Given the description of an element on the screen output the (x, y) to click on. 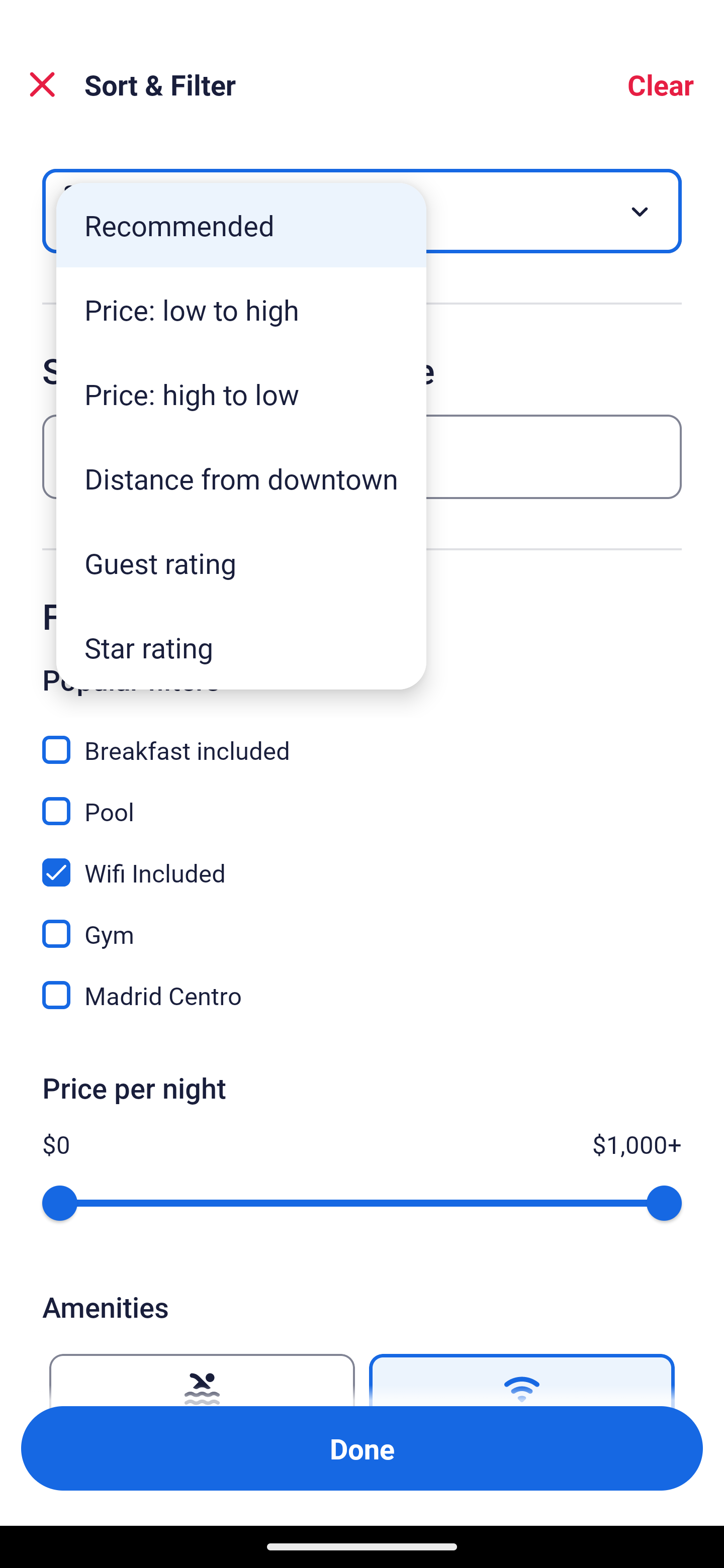
Price: low to high (241, 309)
Price: high to low (241, 393)
Distance from downtown (241, 477)
Guest rating (241, 562)
Star rating (241, 647)
